Given the description of an element on the screen output the (x, y) to click on. 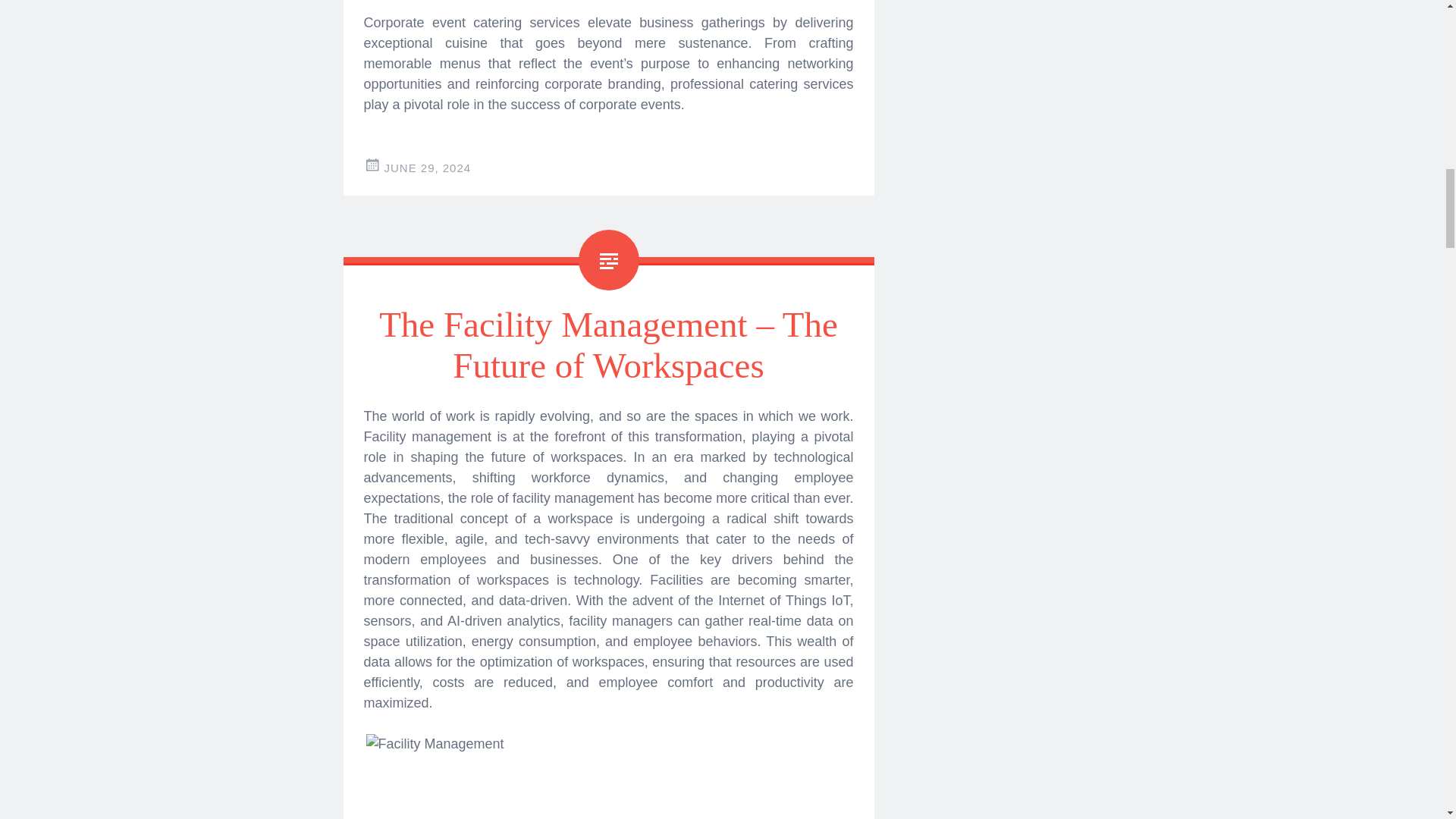
6:20 am (427, 167)
